Given the description of an element on the screen output the (x, y) to click on. 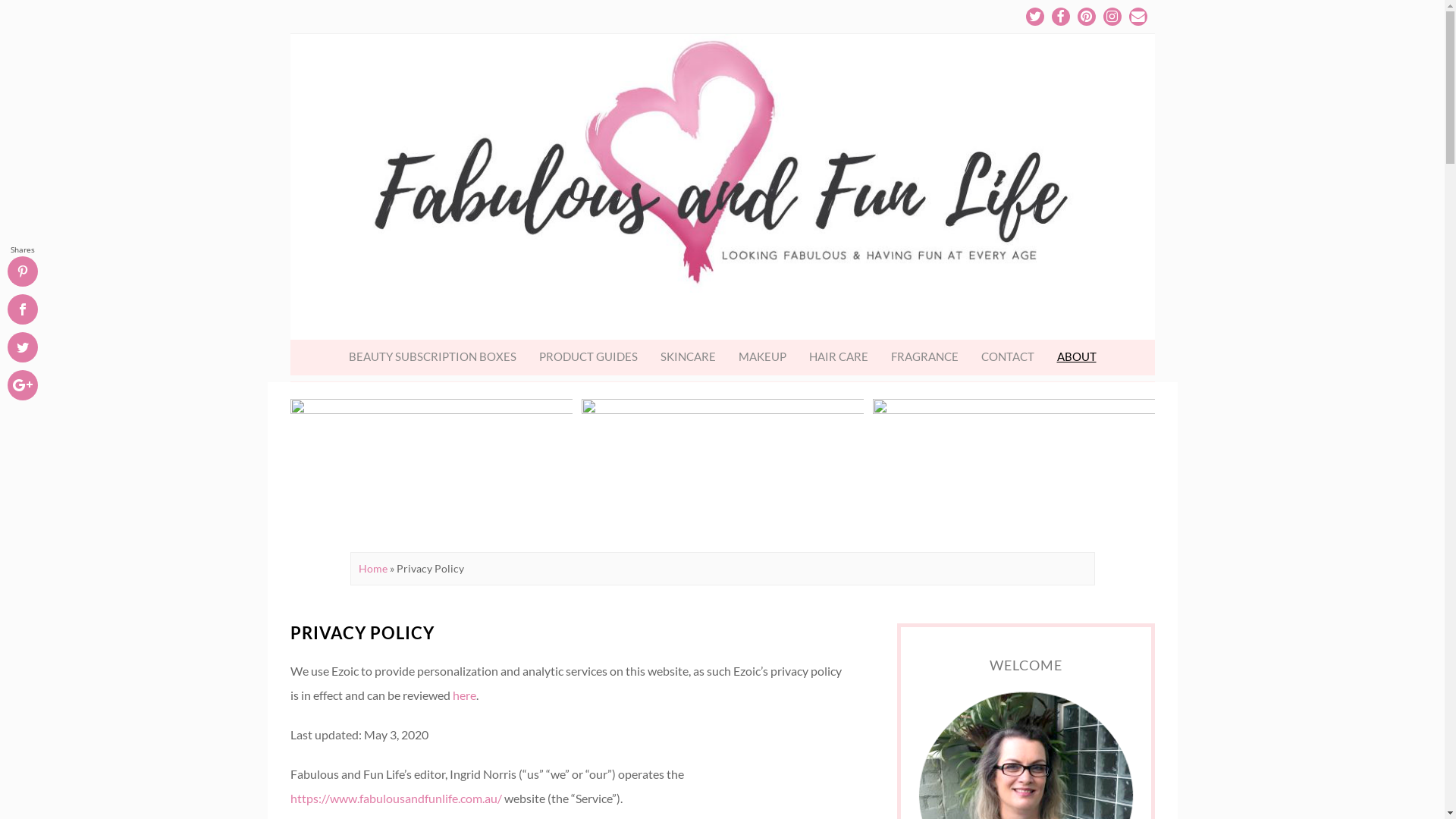
BEAUTY SUBSCRIPTION BOXES Element type: text (431, 356)
CONTACT Element type: text (1006, 356)
https://www.fabulousandfunlife.com.au/ Element type: text (395, 797)
ABOUT Element type: text (1075, 356)
FRAGRANCE Element type: text (924, 356)
Fabulous and Fun Life Element type: hover (721, 186)
Home Element type: text (371, 568)
SKINCARE Element type: text (688, 356)
HAIR CARE Element type: text (838, 356)
PRODUCT GUIDES Element type: text (588, 356)
MAKEUP Element type: text (761, 356)
here Element type: text (463, 694)
